Given the description of an element on the screen output the (x, y) to click on. 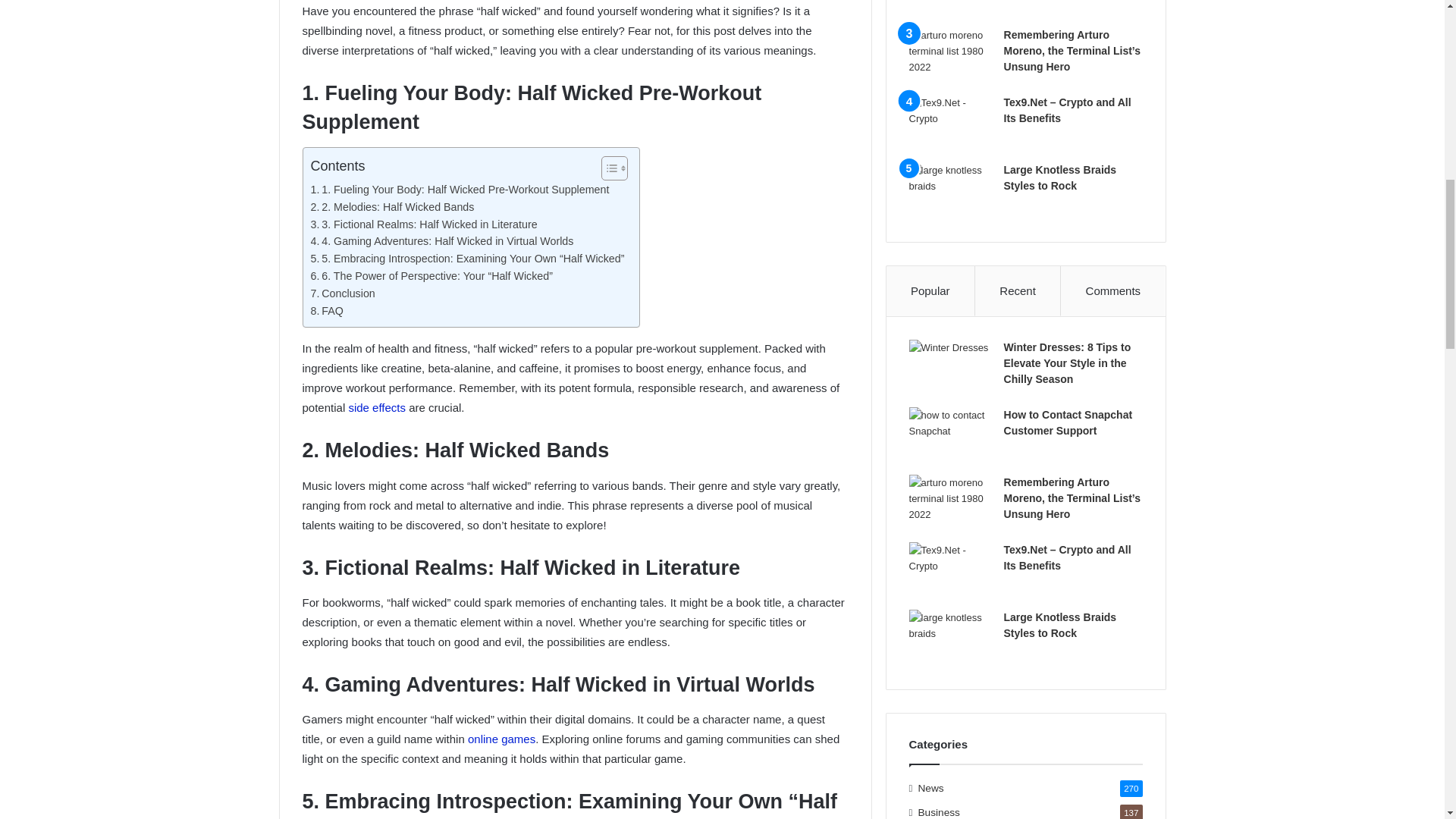
2. Melodies: Half Wicked Bands (392, 207)
Conclusion (343, 293)
1. Fueling Your Body: Half Wicked Pre-Workout Supplement (460, 189)
1. Fueling Your Body: Half Wicked Pre-Workout Supplement (460, 189)
online games (501, 738)
FAQ (327, 311)
3. Fictional Realms: Half Wicked in Literature (424, 224)
side effects (376, 407)
4. Gaming Adventures: Half Wicked in Virtual Worlds (442, 241)
